Given the description of an element on the screen output the (x, y) to click on. 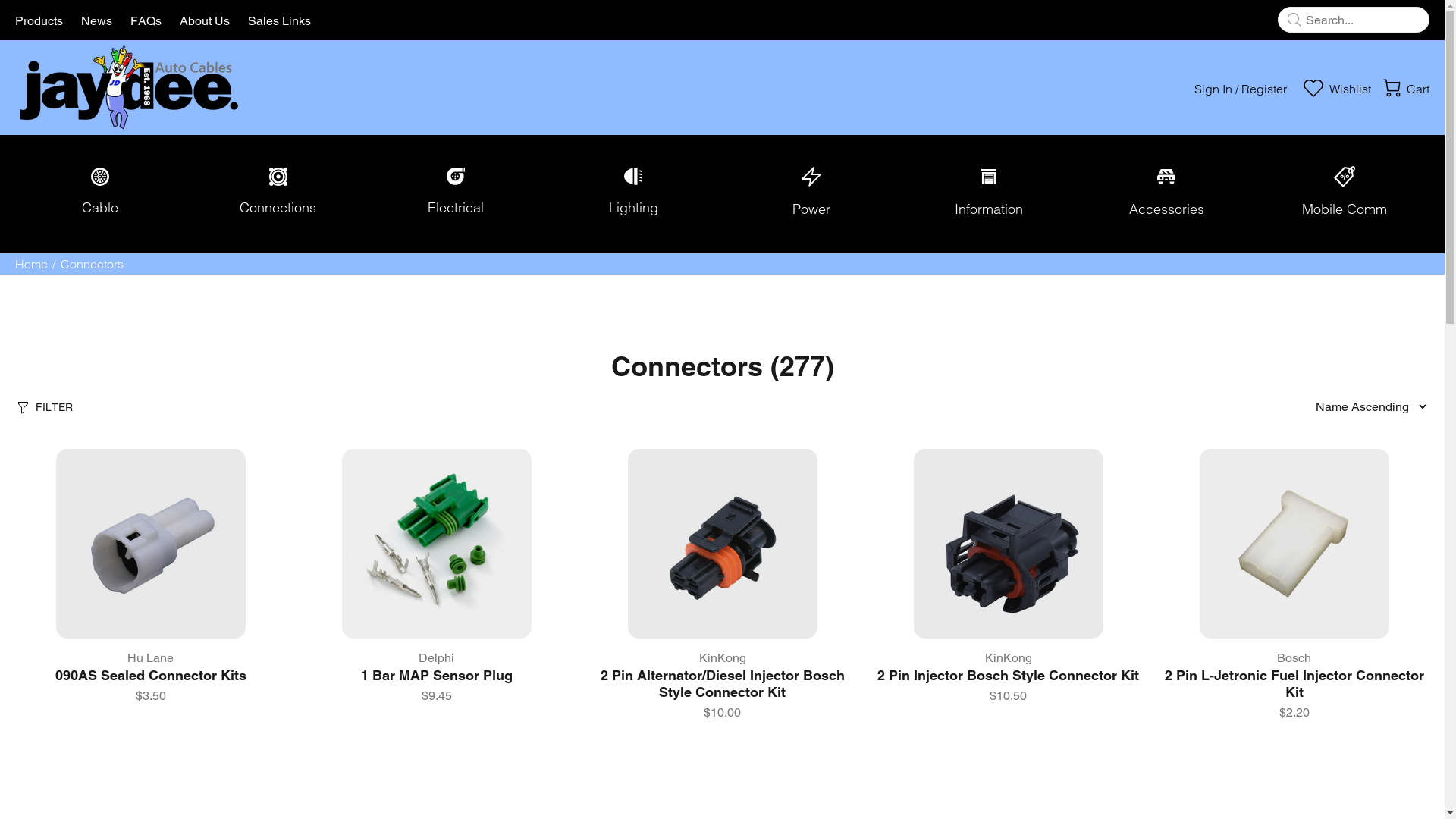
Sales Links Element type: text (274, 20)
Home Element type: text (31, 263)
Mobile Comm Element type: text (1344, 194)
Cart Element type: text (1401, 88)
Lighting Element type: text (633, 194)
Connections Element type: text (277, 194)
1 Bar MAP Sensor Plug Element type: text (436, 675)
Accessories Element type: text (1166, 194)
Wishlist Element type: text (1336, 88)
News Element type: text (96, 20)
Information Element type: text (988, 194)
About Us Element type: text (204, 20)
Cable Element type: text (100, 194)
Hu Lane Element type: text (150, 657)
Power Element type: text (811, 194)
2 Pin L-Jetronic Fuel Injector Connector Kit Element type: text (1294, 683)
2 Pin Alternator/Diesel Injector Bosch Style Connector Kit Element type: text (722, 683)
FILTER Element type: text (43, 405)
Register Element type: text (1263, 88)
Delphi Element type: text (436, 657)
Bosch Element type: text (1294, 657)
KinKong Element type: text (722, 657)
KinKong Element type: text (1007, 657)
2 Pin Injector Bosch Style Connector Kit Element type: text (1008, 675)
Sign In Element type: text (1213, 88)
090AS Sealed Connector Kits Element type: text (149, 675)
FAQs Element type: text (145, 20)
Products Element type: text (43, 20)
Electrical Element type: text (455, 194)
